Given the description of an element on the screen output the (x, y) to click on. 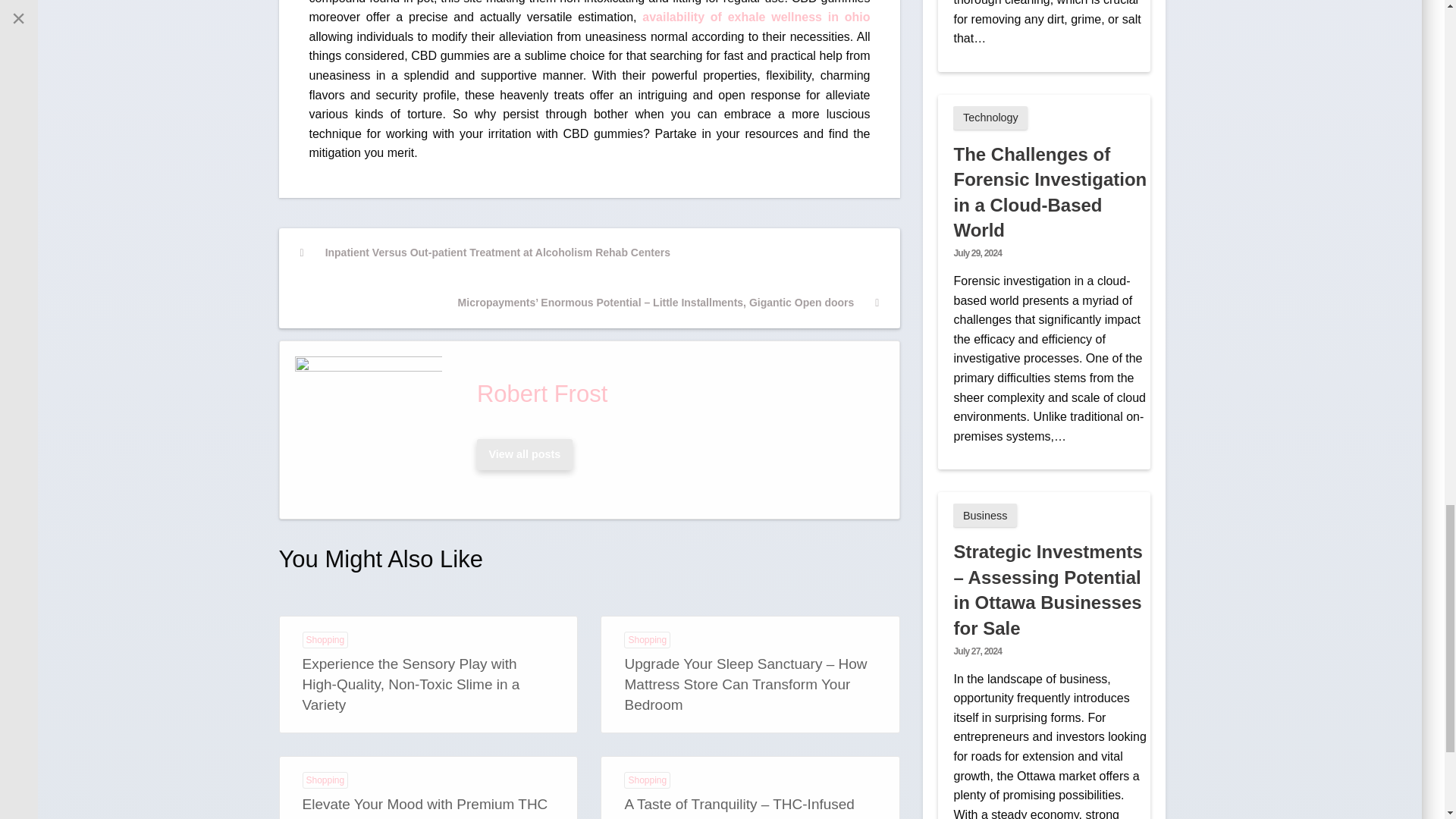
Elevate Your Mood with Premium THC Gummies (424, 807)
View all posts (524, 454)
Shopping (324, 780)
View all posts (523, 453)
Shopping (646, 639)
Robert Frost (523, 453)
Robert Frost (674, 393)
Robert Frost (674, 393)
Shopping (646, 780)
availability of exhale wellness in ohio (755, 16)
Shopping (324, 639)
